Given the description of an element on the screen output the (x, y) to click on. 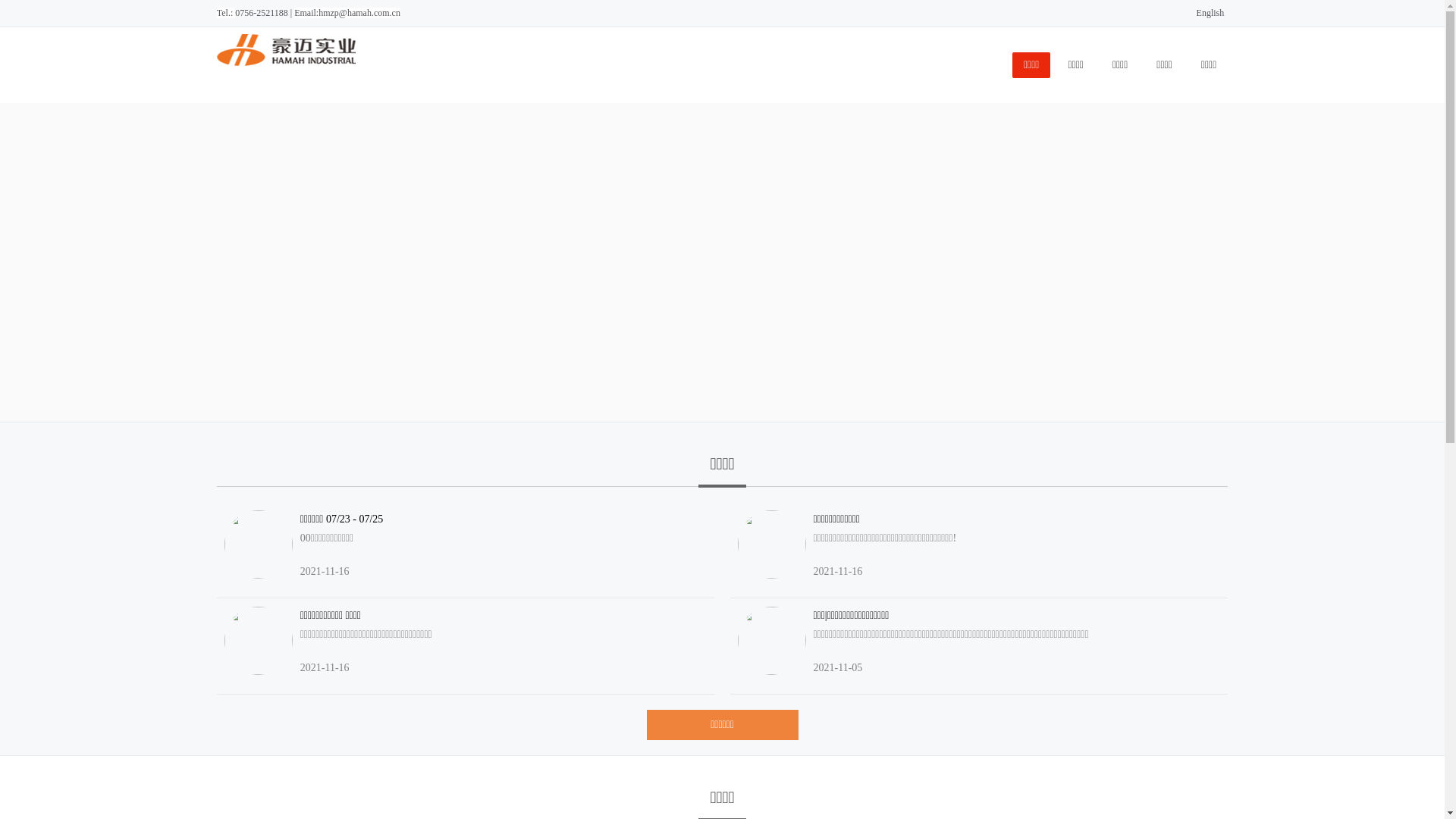
English Element type: text (1212, 12)
Email:hmzp@hamah.com.cn Element type: text (347, 12)
Tel.: Element type: text (225, 12)
